Given the description of an element on the screen output the (x, y) to click on. 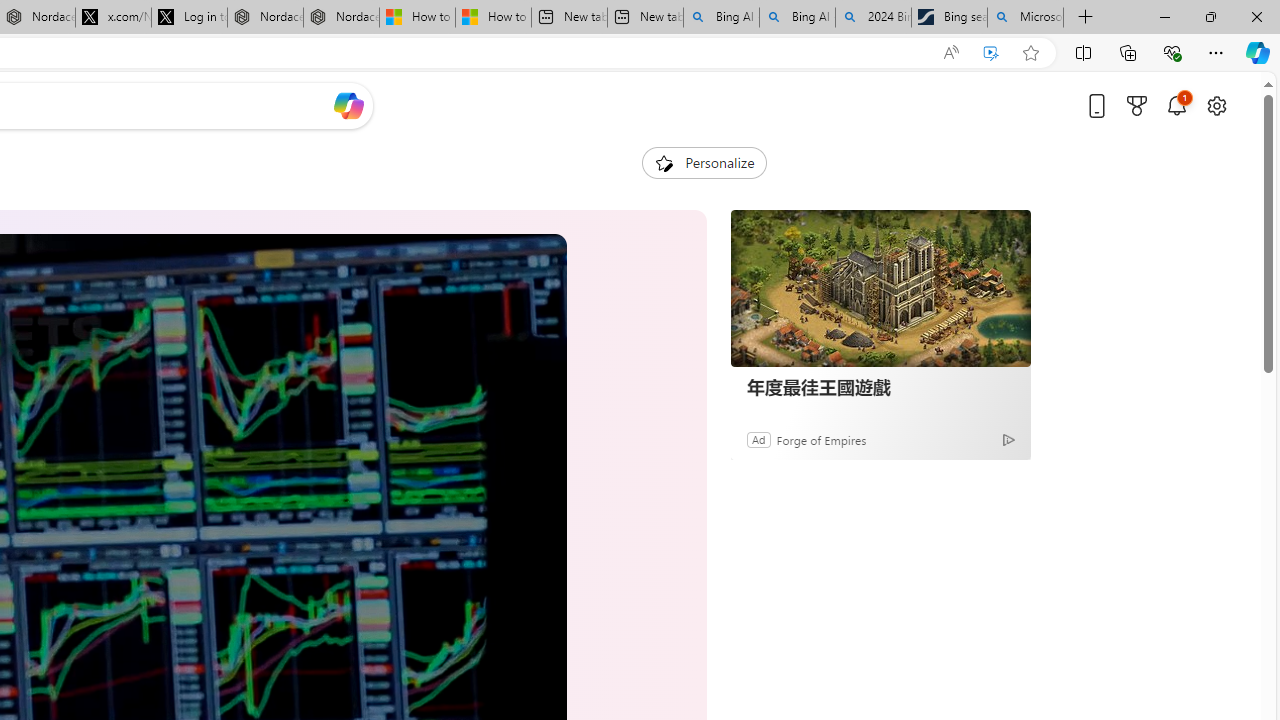
Copilot (Ctrl+Shift+.) (1258, 52)
Close (1256, 16)
Ad Choice (1008, 439)
Open settings (1216, 105)
New Tab (1085, 17)
